Given the description of an element on the screen output the (x, y) to click on. 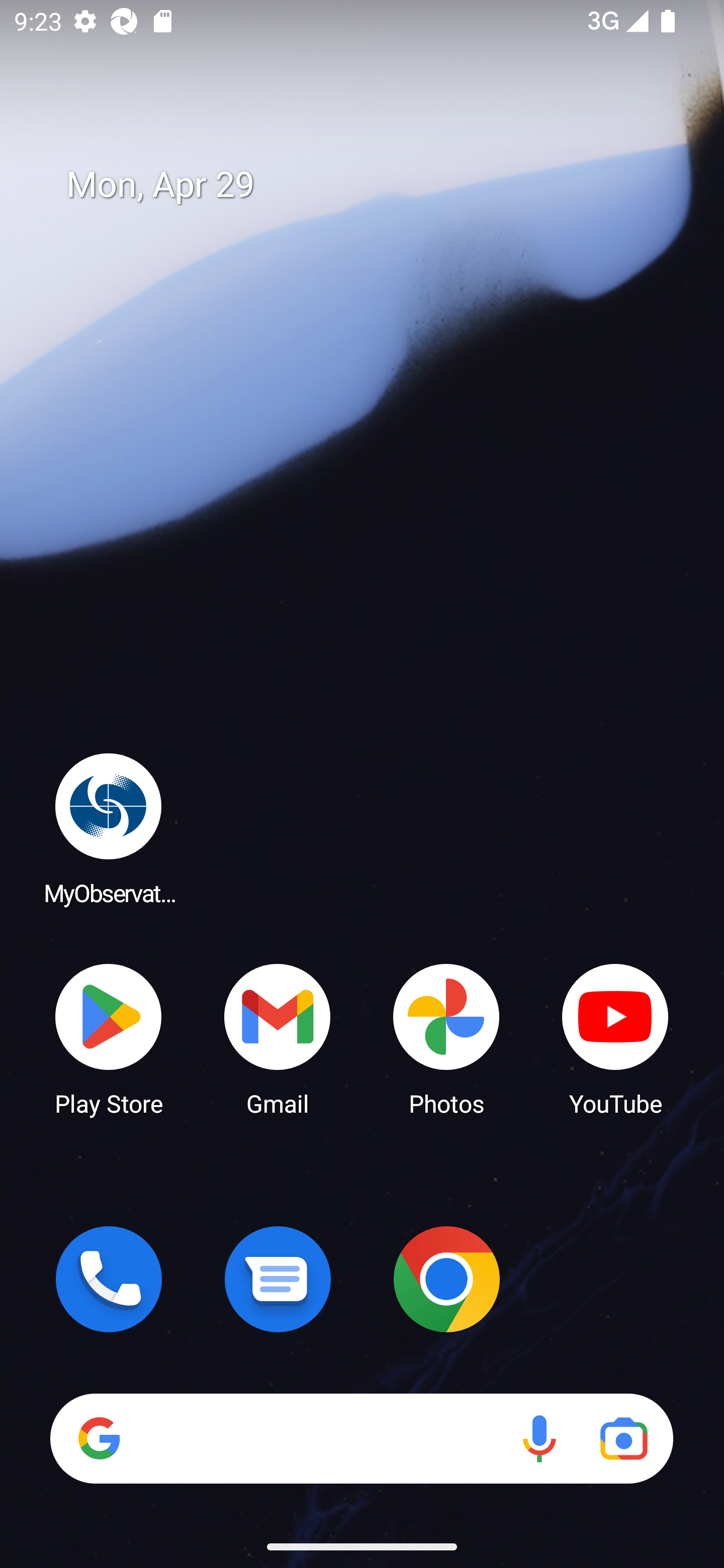
Mon, Apr 29 (375, 184)
MyObservatory (108, 828)
Play Store (108, 1038)
Gmail (277, 1038)
Photos (445, 1038)
YouTube (615, 1038)
Phone (108, 1279)
Messages (277, 1279)
Chrome (446, 1279)
Voice search (539, 1438)
Google Lens (623, 1438)
